Given the description of an element on the screen output the (x, y) to click on. 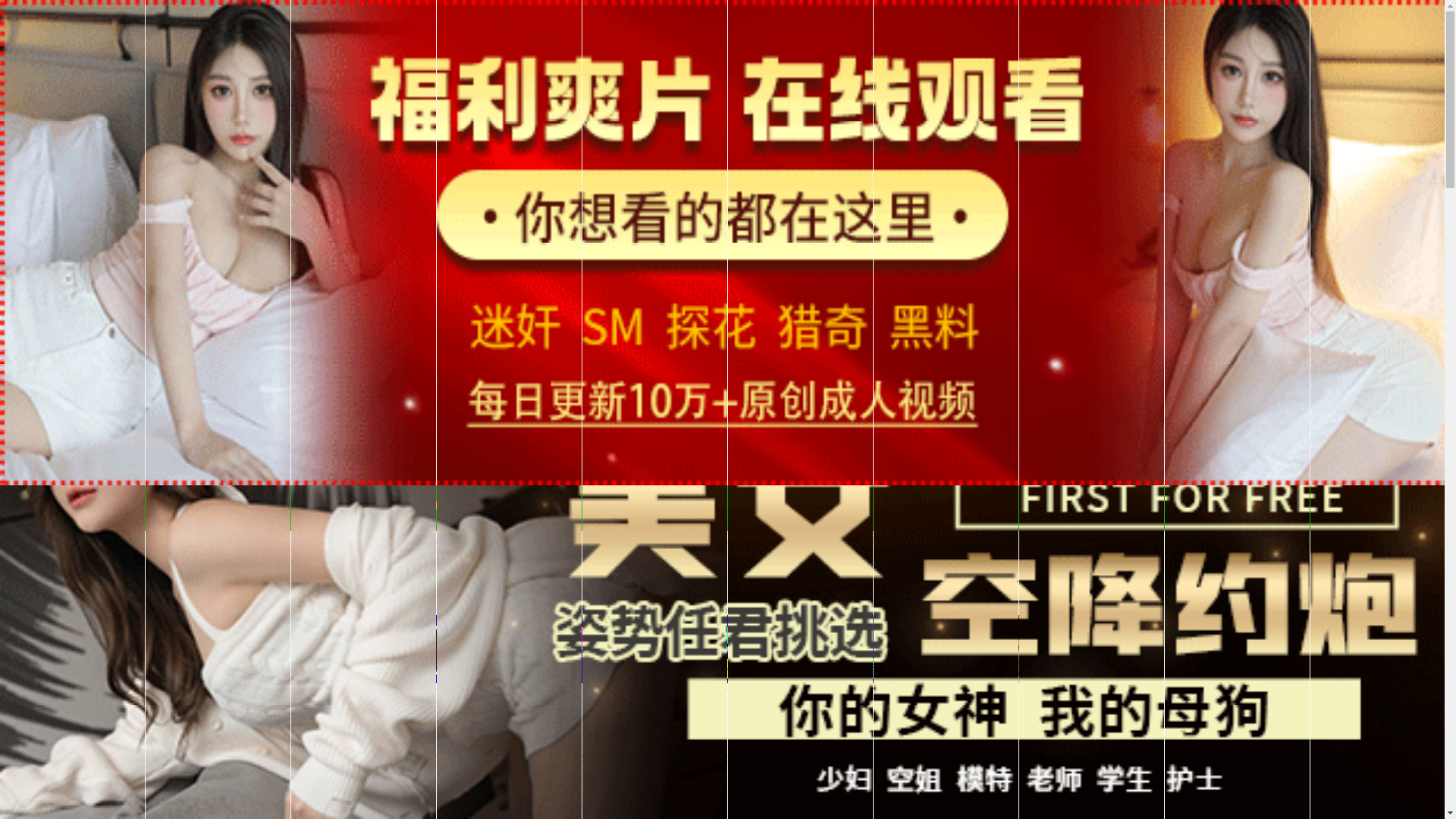
177rr.Com Element type: text (411, 503)
www.xmkk5.com Element type: text (693, 515)
